Given the description of an element on the screen output the (x, y) to click on. 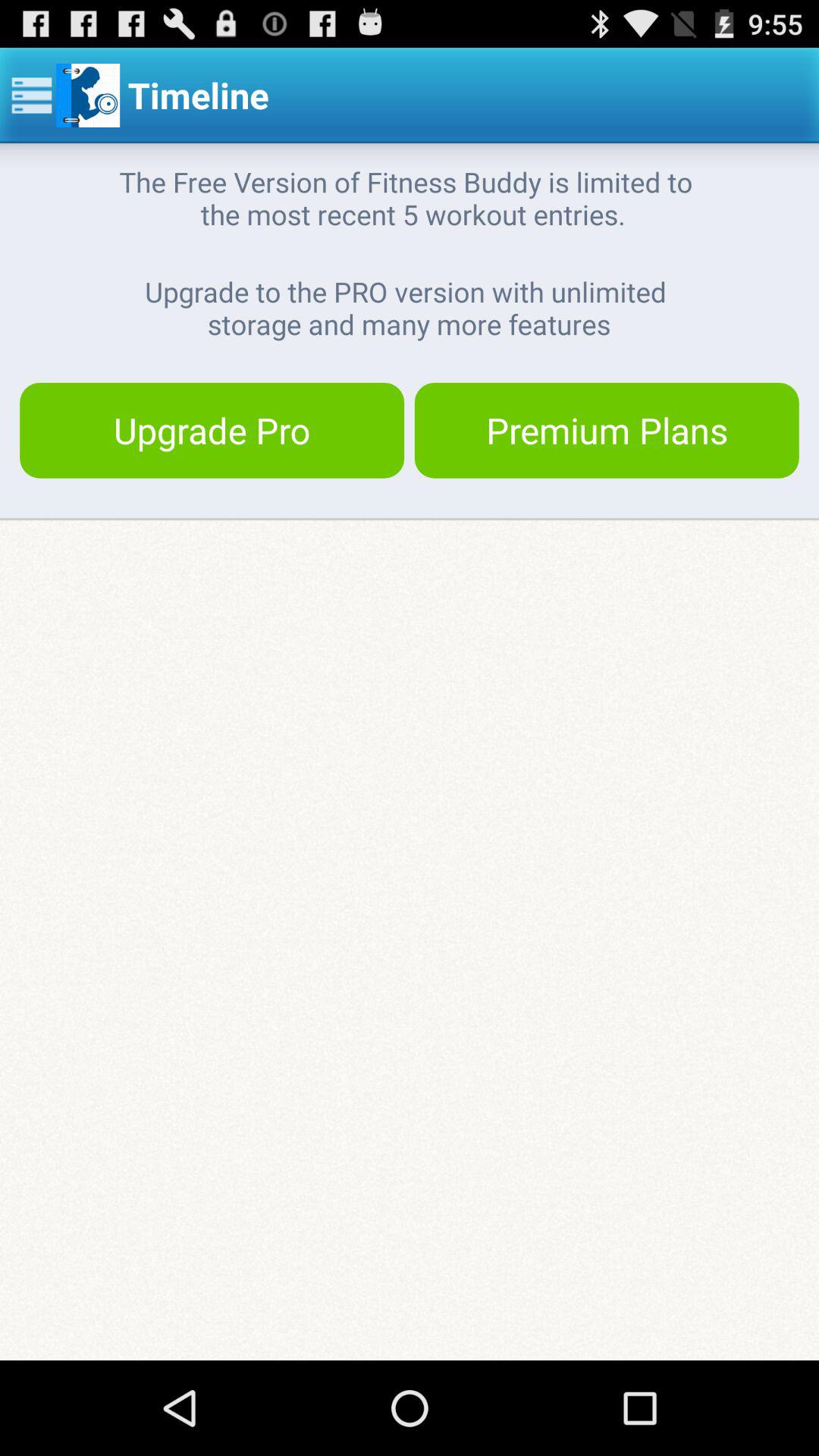
swipe to the premium plans button (606, 430)
